Given the description of an element on the screen output the (x, y) to click on. 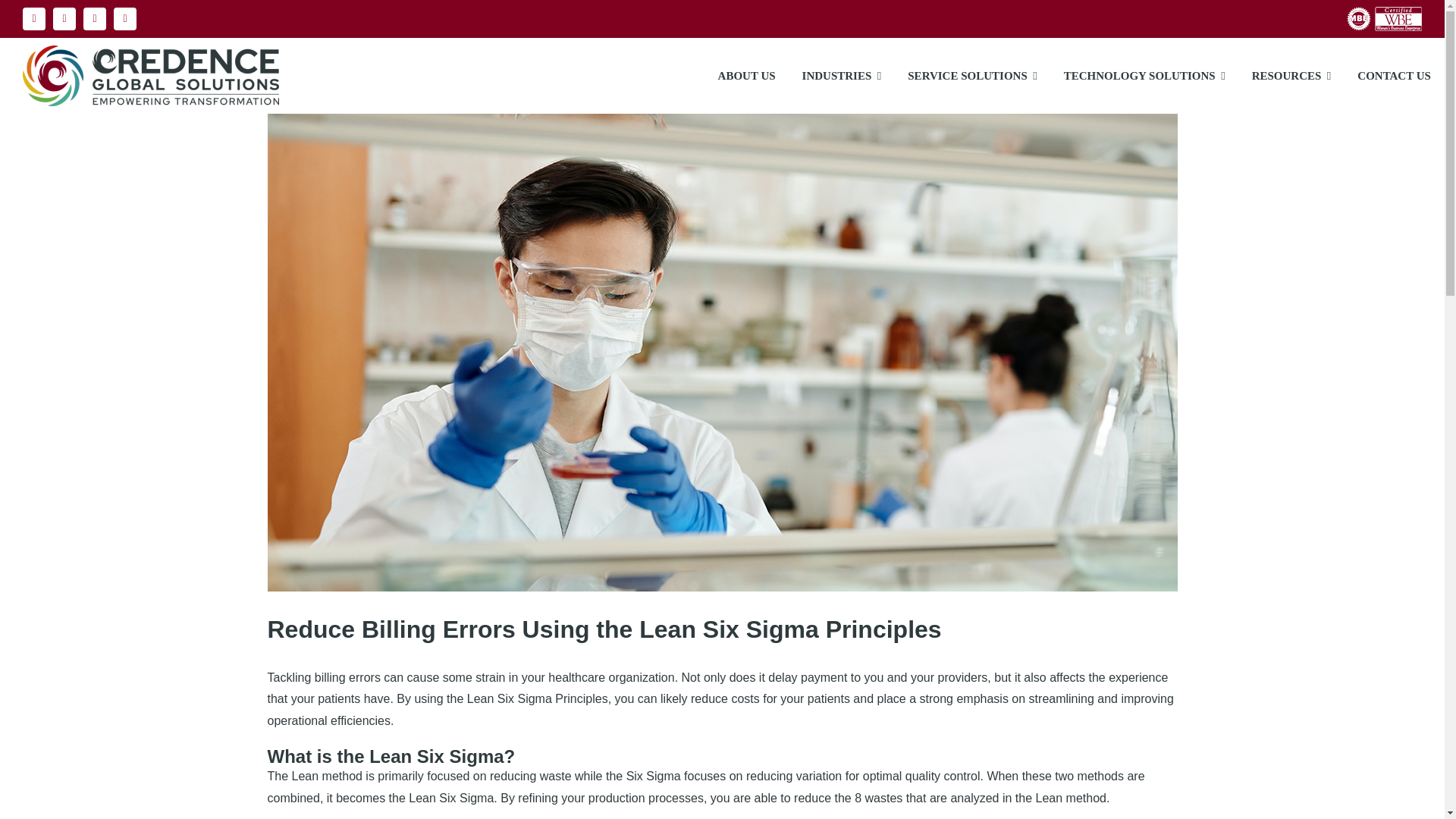
Facebook (63, 18)
RESOURCES (1297, 75)
ABOUT US (752, 75)
YouTube (124, 18)
mbe-wbe-Logo-header-white (1383, 18)
INDUSTRIES (847, 75)
SERVICE SOLUTIONS (977, 75)
TECHNOLOGY SOLUTIONS (1150, 75)
Twitter (94, 18)
